Given the description of an element on the screen output the (x, y) to click on. 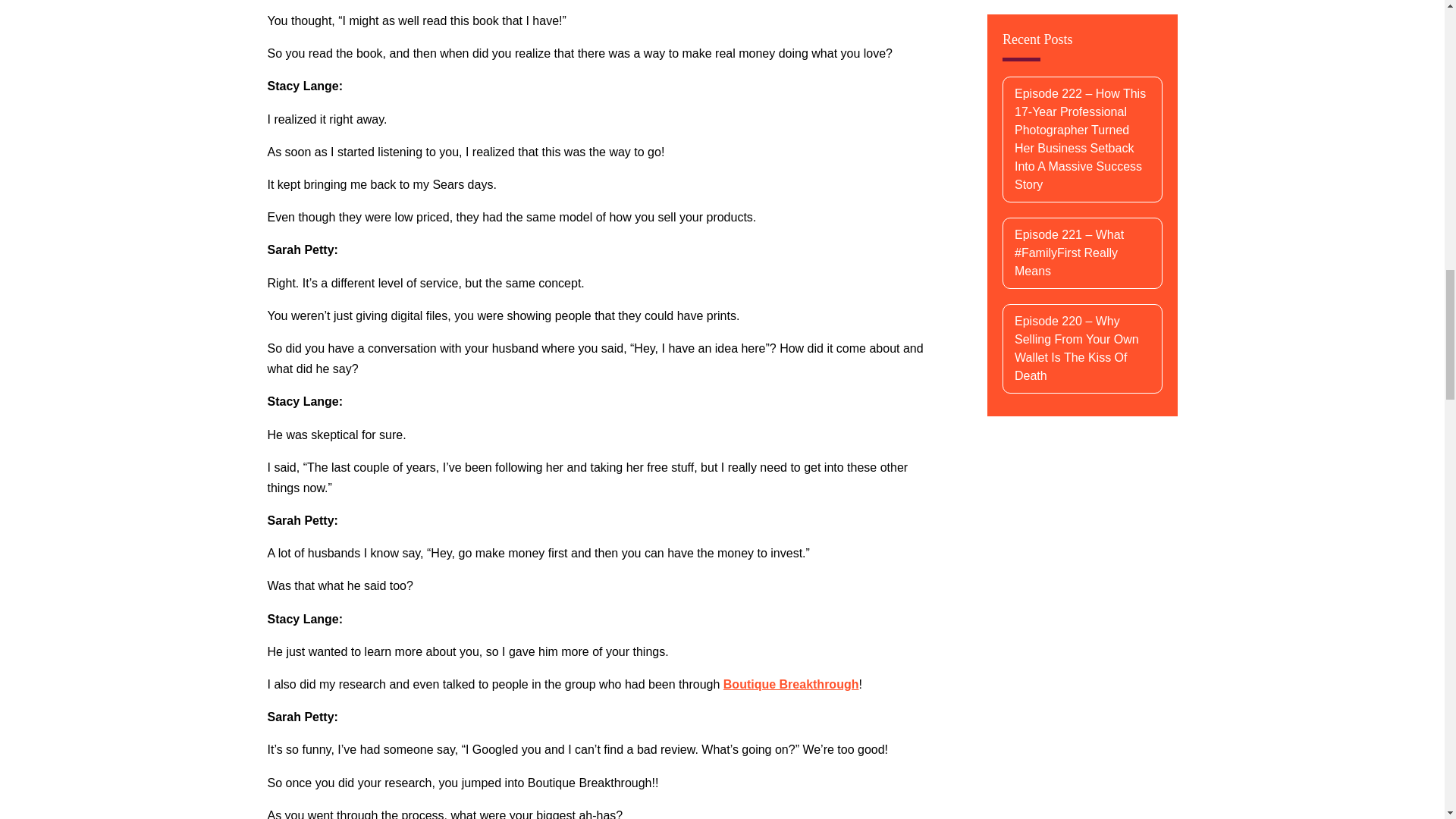
Boutique Breakthrough (791, 684)
Boutique Breakthrough (791, 684)
